Given the description of an element on the screen output the (x, y) to click on. 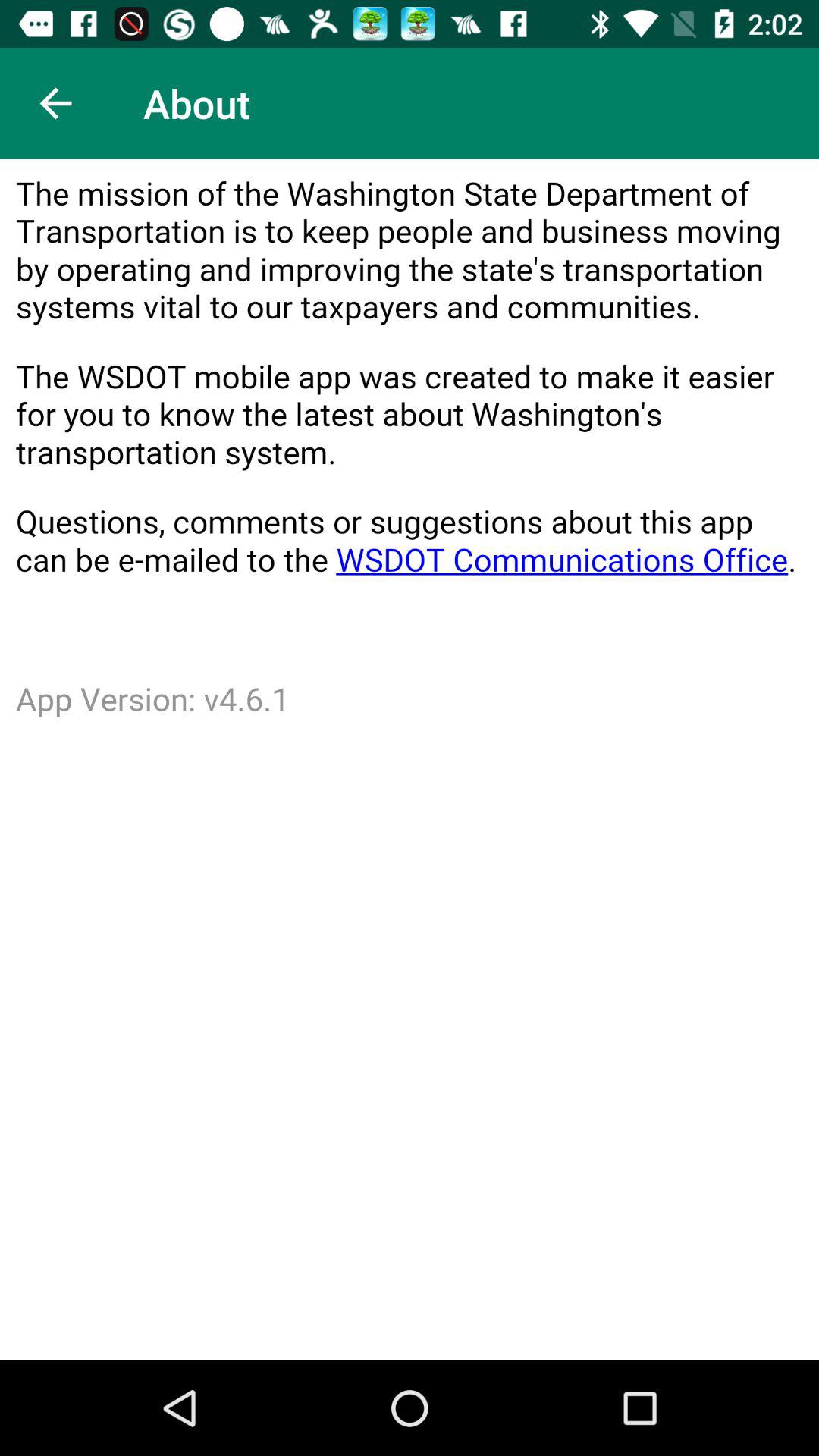
advertisement page (409, 759)
